Given the description of an element on the screen output the (x, y) to click on. 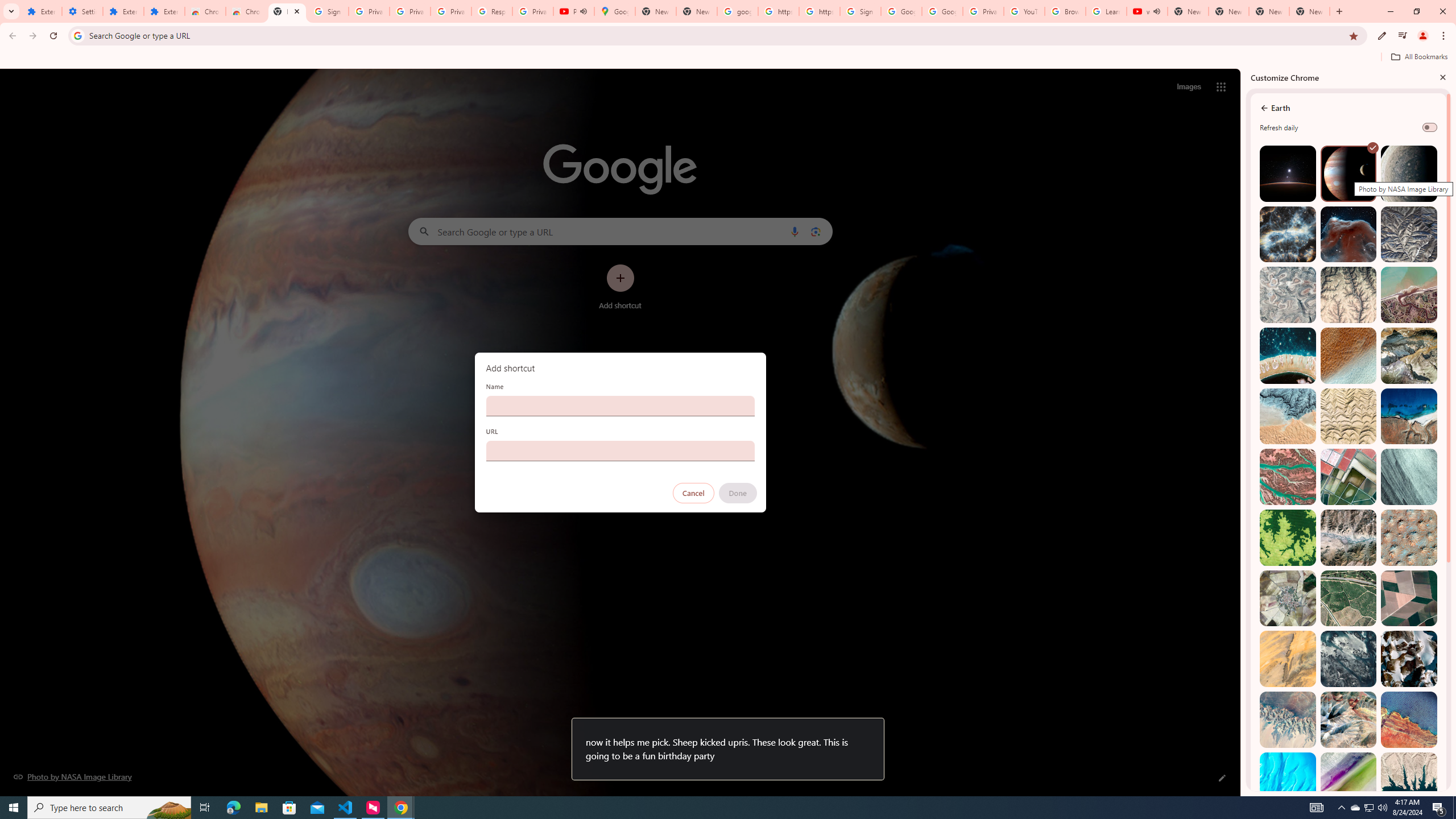
Hardap, Namibia (1287, 416)
Atar, Mauritania (1287, 658)
Iceland (1408, 476)
Kerman, Iran (1348, 416)
Extensions (122, 11)
South Eleuthera, The Bahamas (1287, 780)
